Given the description of an element on the screen output the (x, y) to click on. 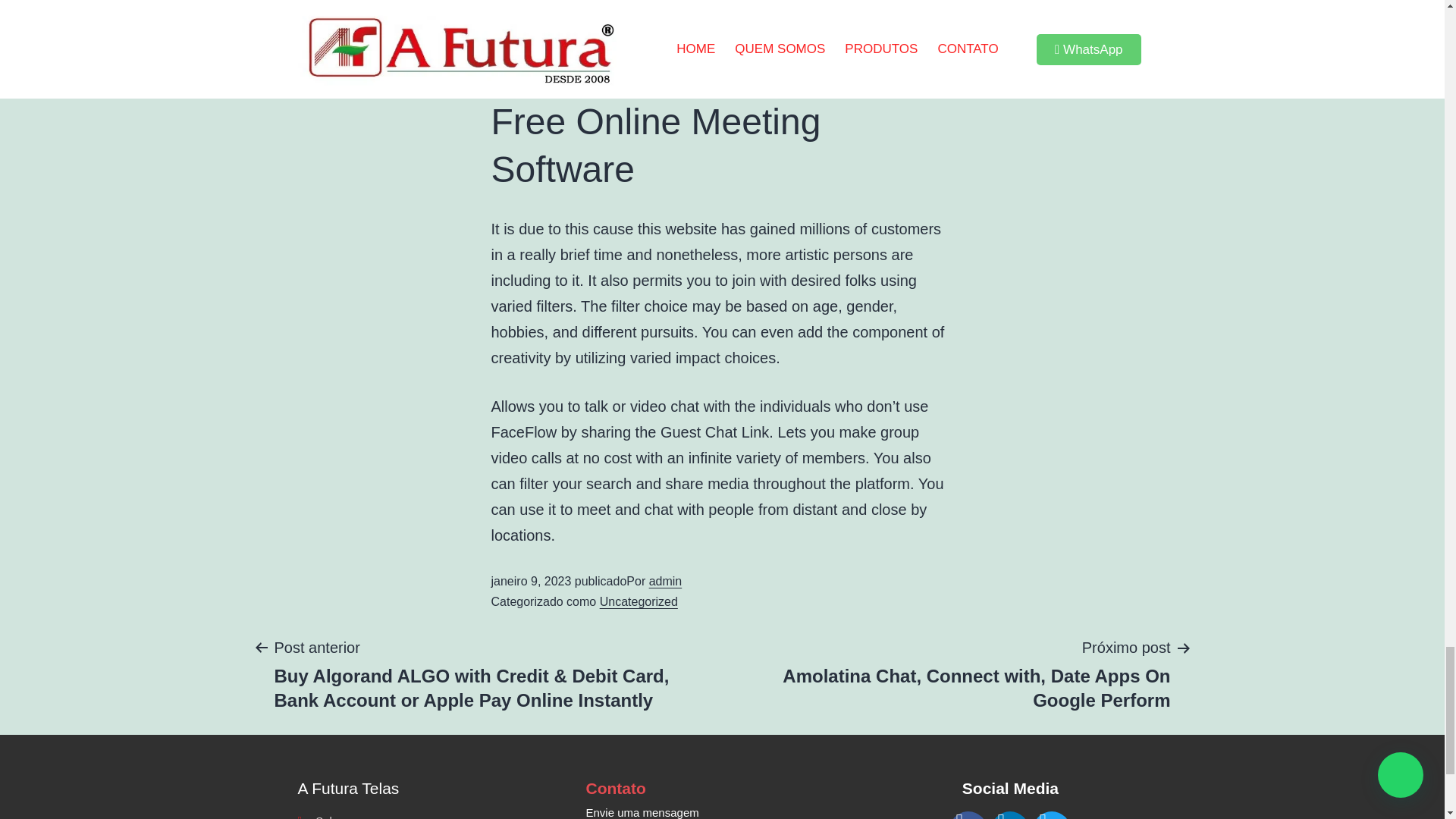
admin (665, 581)
Sobre (433, 815)
Envie uma mensagem (722, 811)
Uncategorized (638, 601)
